Given the description of an element on the screen output the (x, y) to click on. 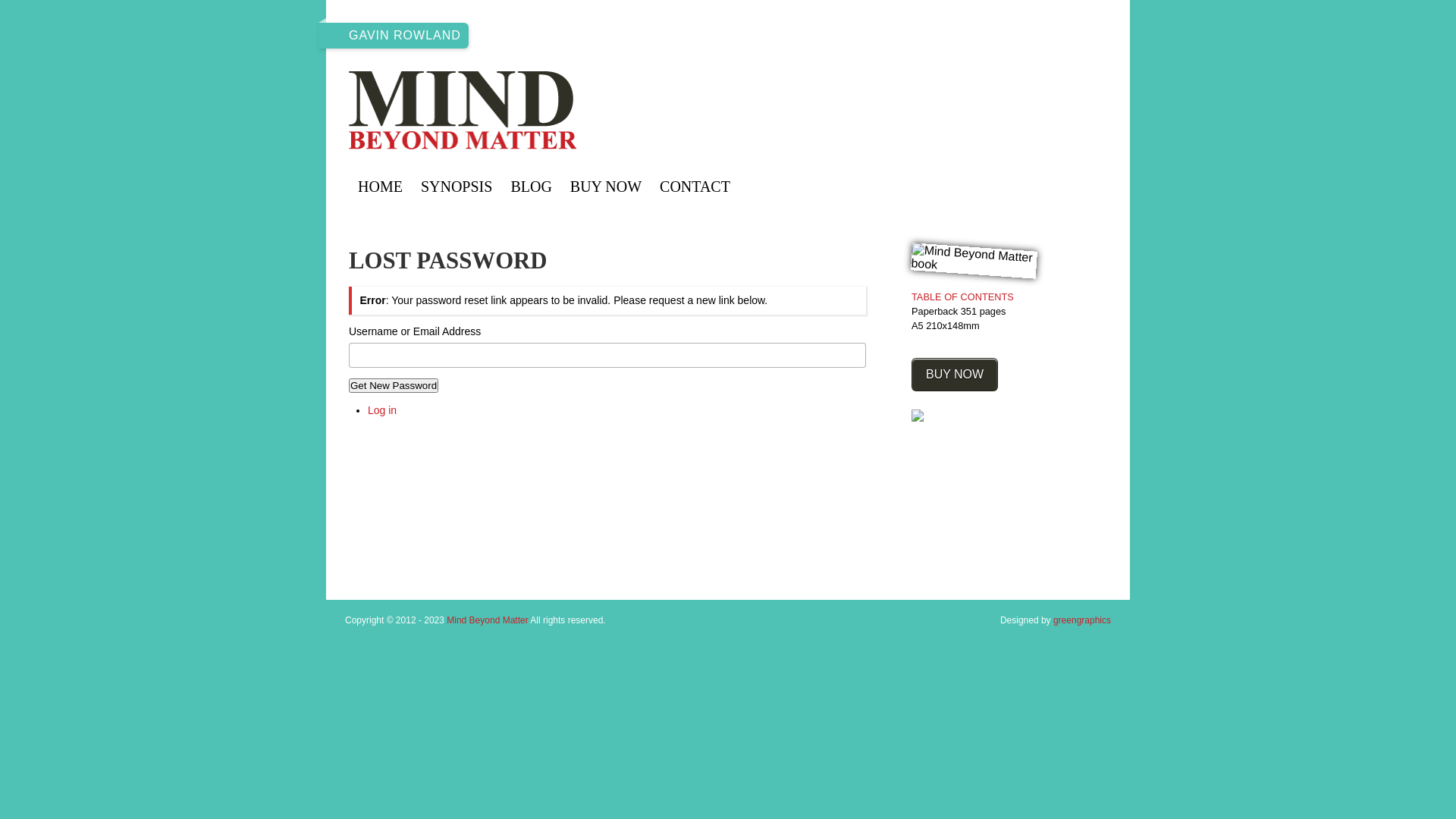
TABLE OF CONTENTS Element type: text (962, 296)
Get New Password Element type: text (393, 385)
greengraphics Element type: text (1081, 620)
HOME Element type: text (379, 186)
BUY NOW Element type: text (605, 186)
CONTACT Element type: text (694, 186)
Mind Beyond Matter Book Cover Element type: hover (972, 255)
Log in Element type: text (381, 410)
Mind Beyond Matter Element type: text (486, 620)
BUY NOW Element type: text (954, 374)
Mind Beyond Matter Element type: hover (538, 110)
SYNOPSIS Element type: text (456, 186)
BLOG Element type: text (530, 186)
